Given the description of an element on the screen output the (x, y) to click on. 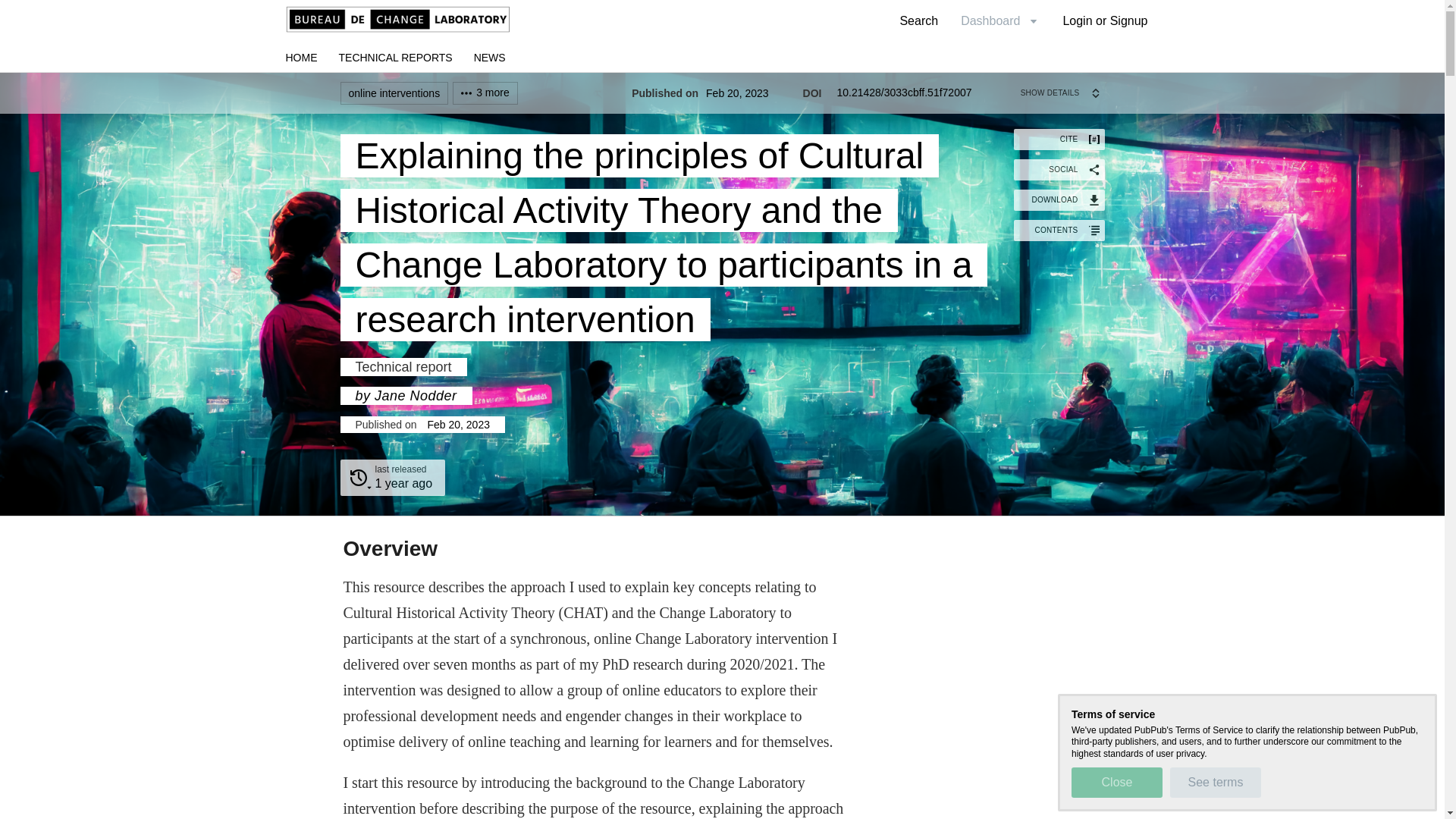
Dashboard (721, 82)
Search (392, 477)
Login or Signup (1000, 20)
Close (918, 20)
3 more (1104, 20)
See terms (1116, 782)
SHOW DETAILS (485, 92)
2023-02-17 23:49 (1215, 782)
SOCIAL (1062, 93)
online interventions (403, 482)
CONTENTS (1058, 169)
NEWS (393, 92)
TECHNICAL REPORTS (1058, 230)
